Given the description of an element on the screen output the (x, y) to click on. 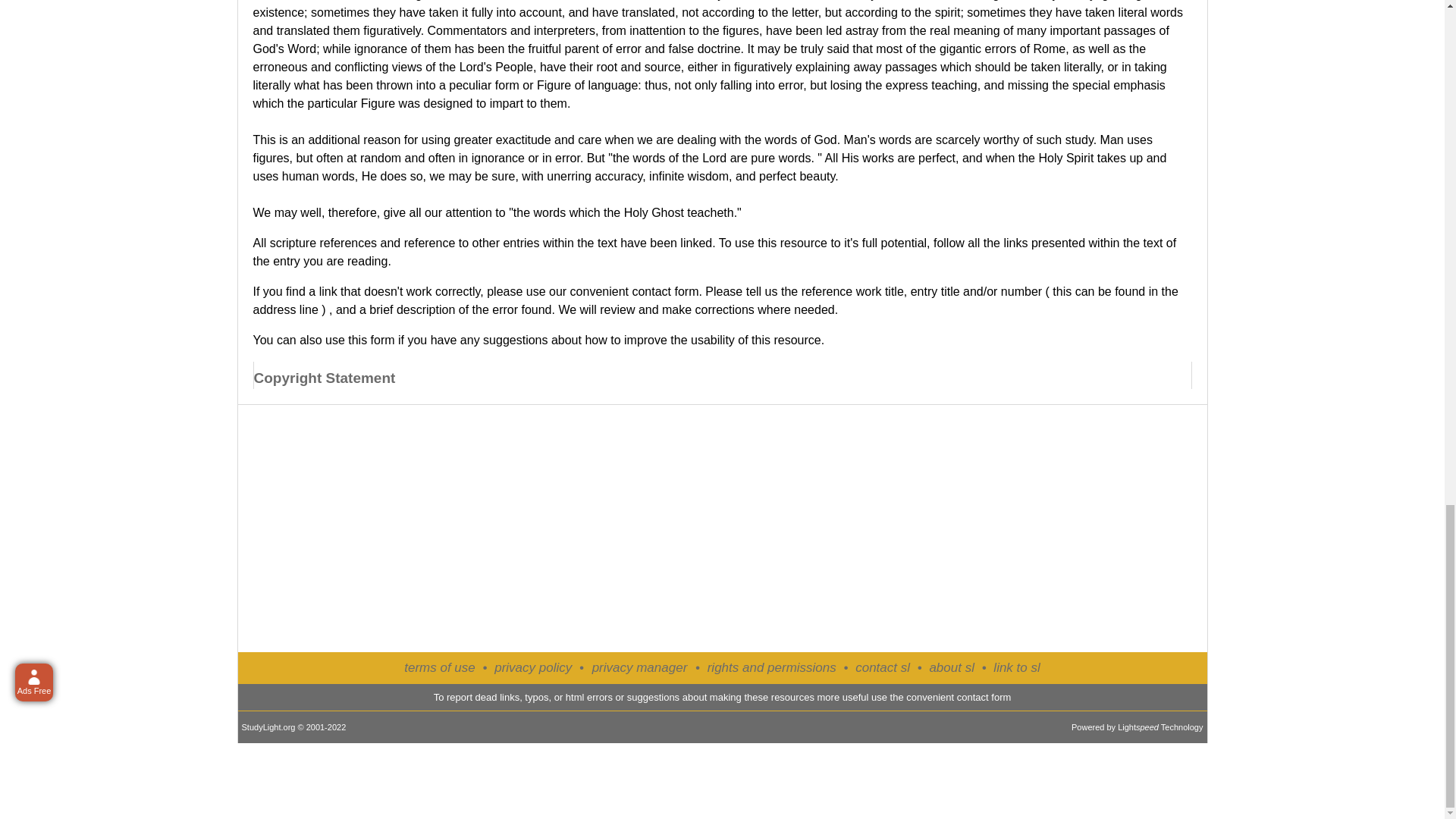
contact form (983, 696)
privacy manager (640, 668)
rights and permissions (771, 667)
terms of use (440, 667)
contact sl (883, 667)
privacy policy (533, 667)
link to sl (1015, 667)
Copyright Statement (323, 378)
contact form (664, 291)
about sl (951, 667)
